Given the description of an element on the screen output the (x, y) to click on. 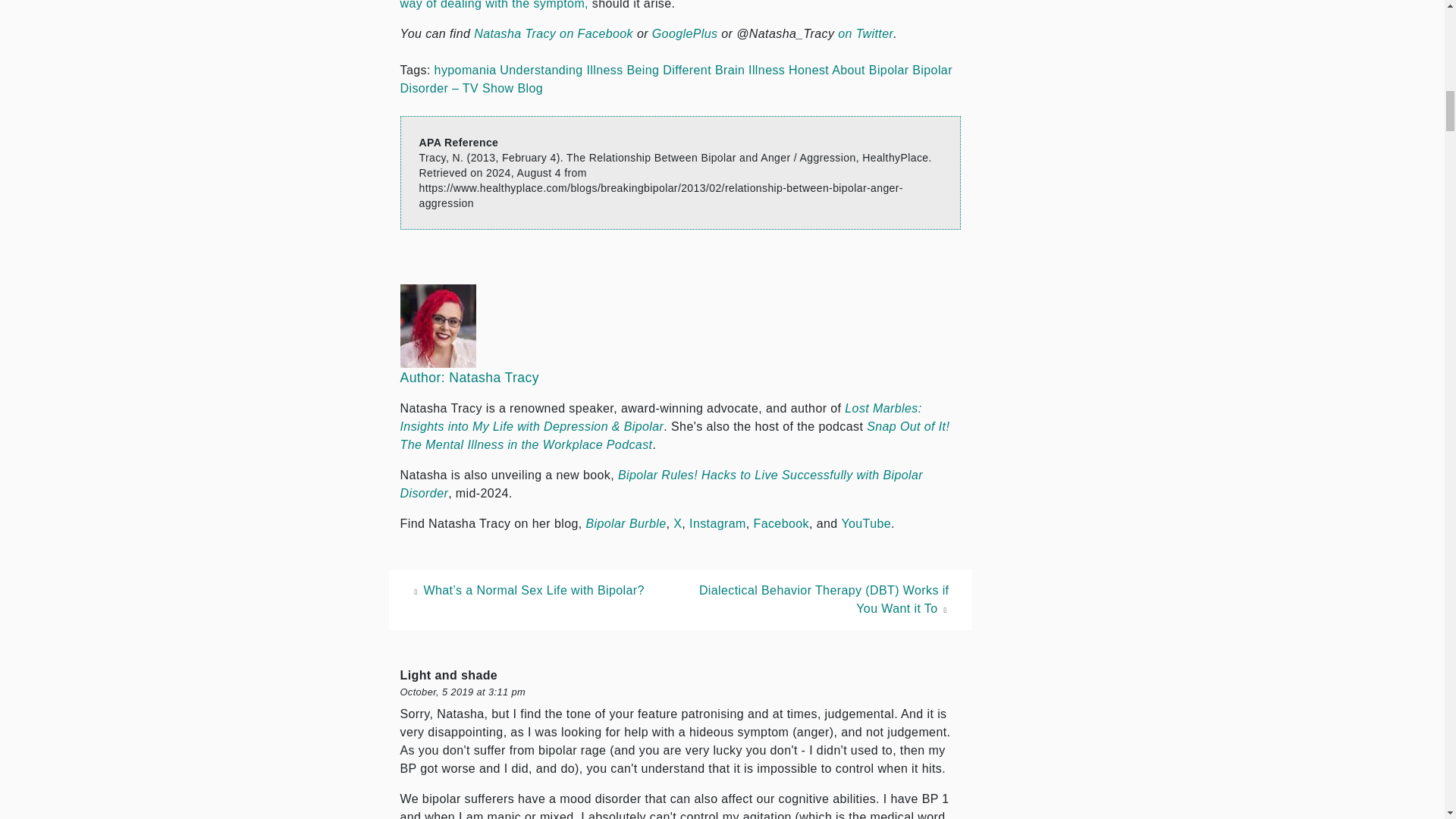
Natasha Tracy on GooglePlus (684, 33)
Facebook for Natasha Tracy (553, 33)
Beating Bipolar - Do What You Don't Want to Do (671, 4)
Twitter for Natasha Tracy (865, 33)
